Given the description of an element on the screen output the (x, y) to click on. 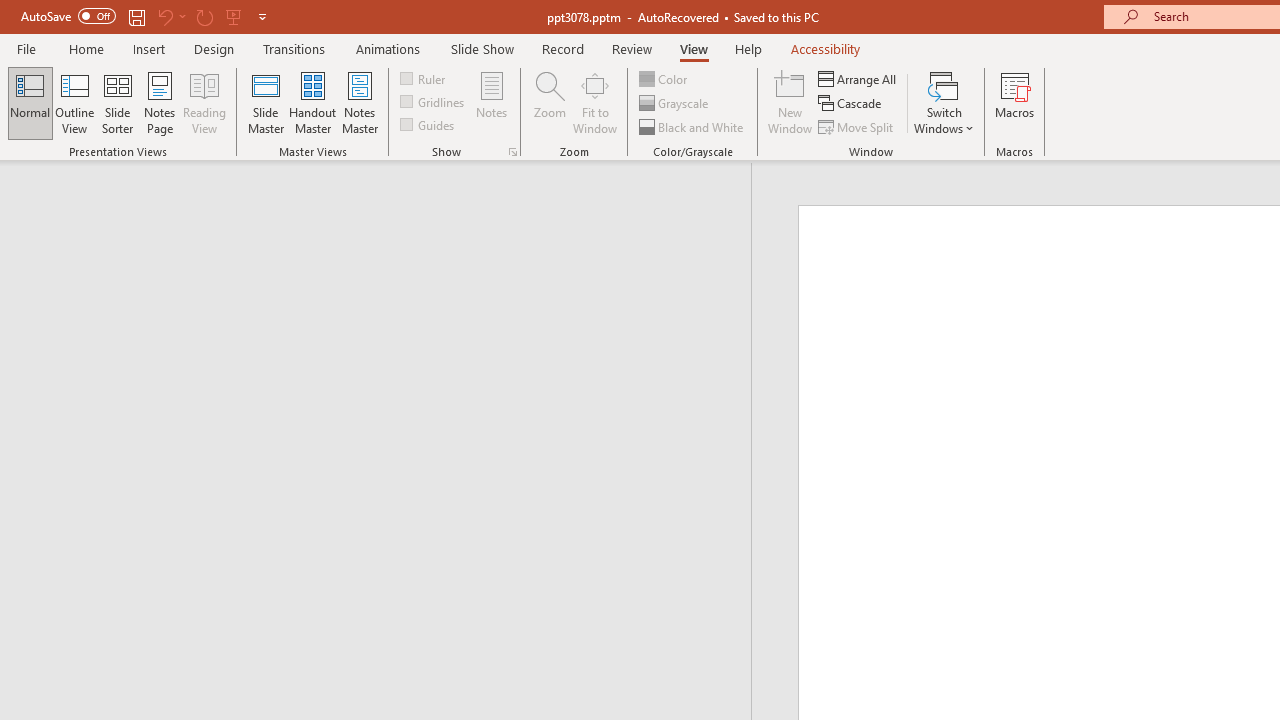
Grid Settings... (512, 151)
Ruler (423, 78)
Zoom... (549, 102)
Switch Windows (943, 102)
Notes (492, 102)
